Given the description of an element on the screen output the (x, y) to click on. 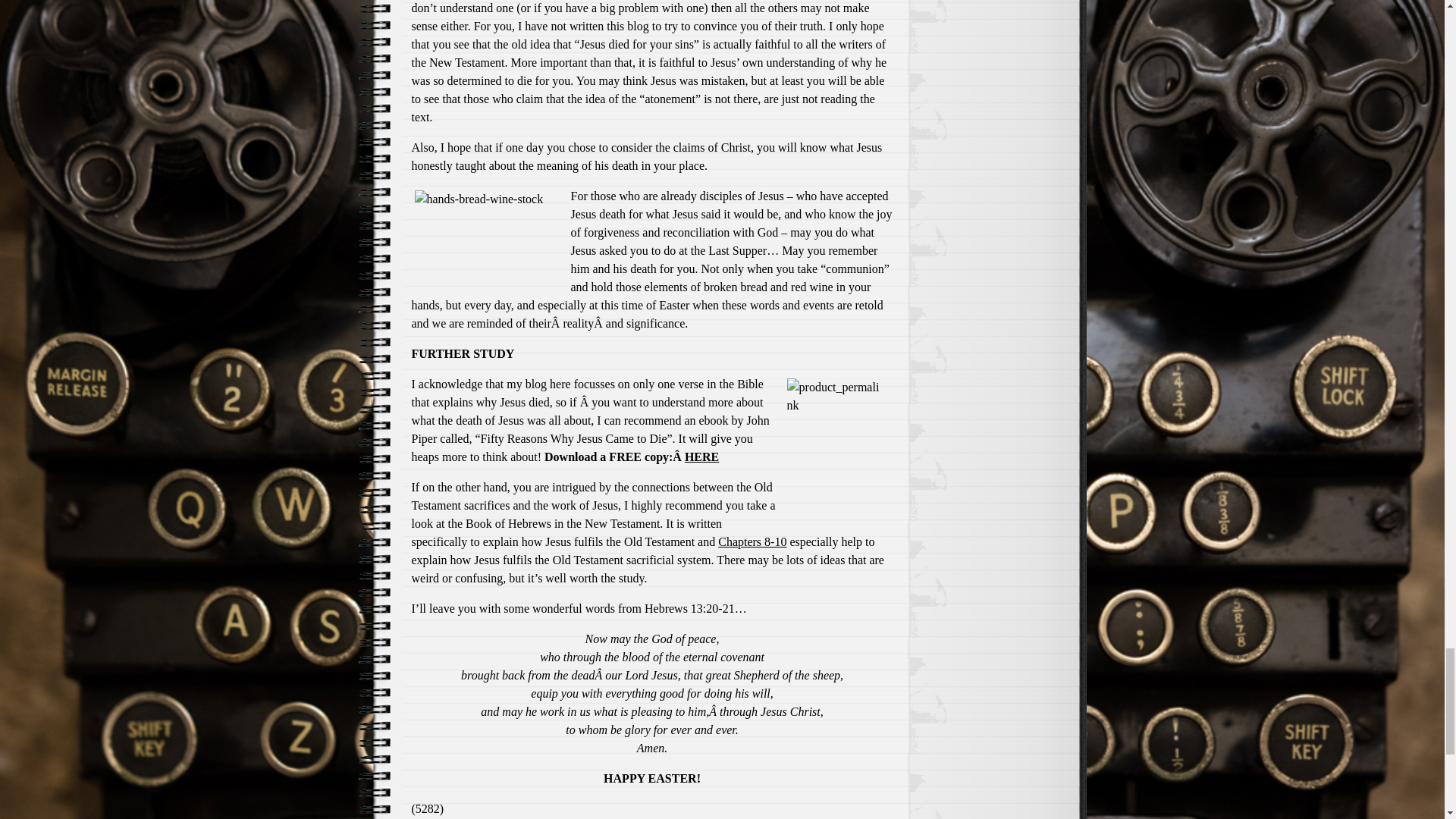
Chapters 8-10 (751, 541)
HERE (701, 456)
